Given the description of an element on the screen output the (x, y) to click on. 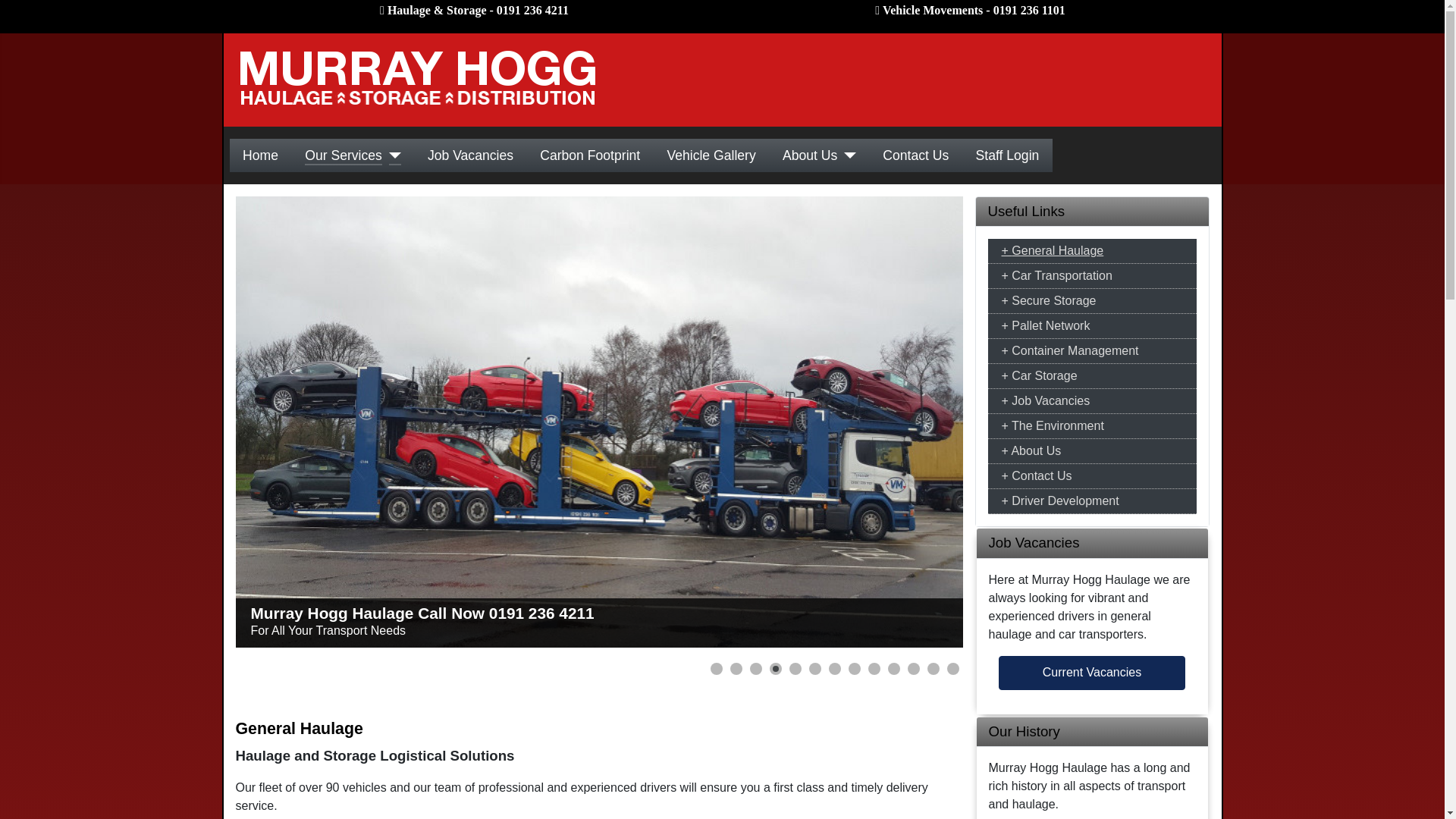
Pallet Network (1091, 325)
Staff Login (1007, 155)
Job Vacancies (1091, 401)
Contact Us (915, 155)
Contact Us (1091, 475)
Secure Storage (1091, 300)
Carbon Footprint (590, 155)
General Haulage (1091, 250)
Current Vacancies (1091, 673)
Our Services (342, 155)
Container Management (1091, 351)
Job Vacancies (470, 155)
Vehicle Gallery (710, 155)
Home (260, 155)
Car Storage (1091, 375)
